Given the description of an element on the screen output the (x, y) to click on. 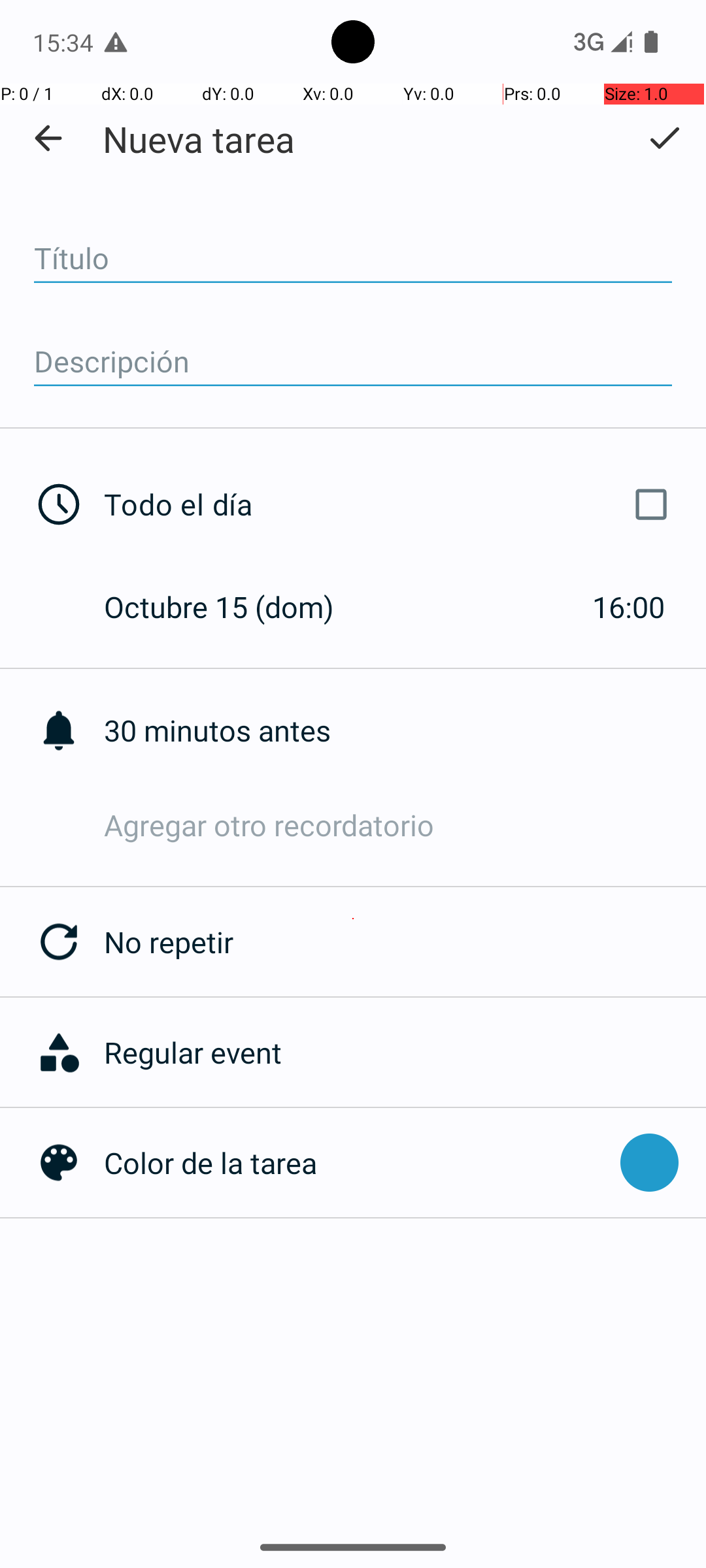
Nueva tarea Element type: android.widget.TextView (198, 138)
Título Element type: android.widget.EditText (352, 258)
Descripción Element type: android.widget.EditText (352, 361)
30 minutos antes Element type: android.widget.TextView (404, 729)
Agregar otro recordatorio Element type: android.widget.TextView (404, 824)
No repetir Element type: android.widget.TextView (404, 941)
Todo el día Element type: android.widget.CheckBox (390, 504)
Color de la tarea Element type: android.widget.TextView (354, 1162)
